Given the description of an element on the screen output the (x, y) to click on. 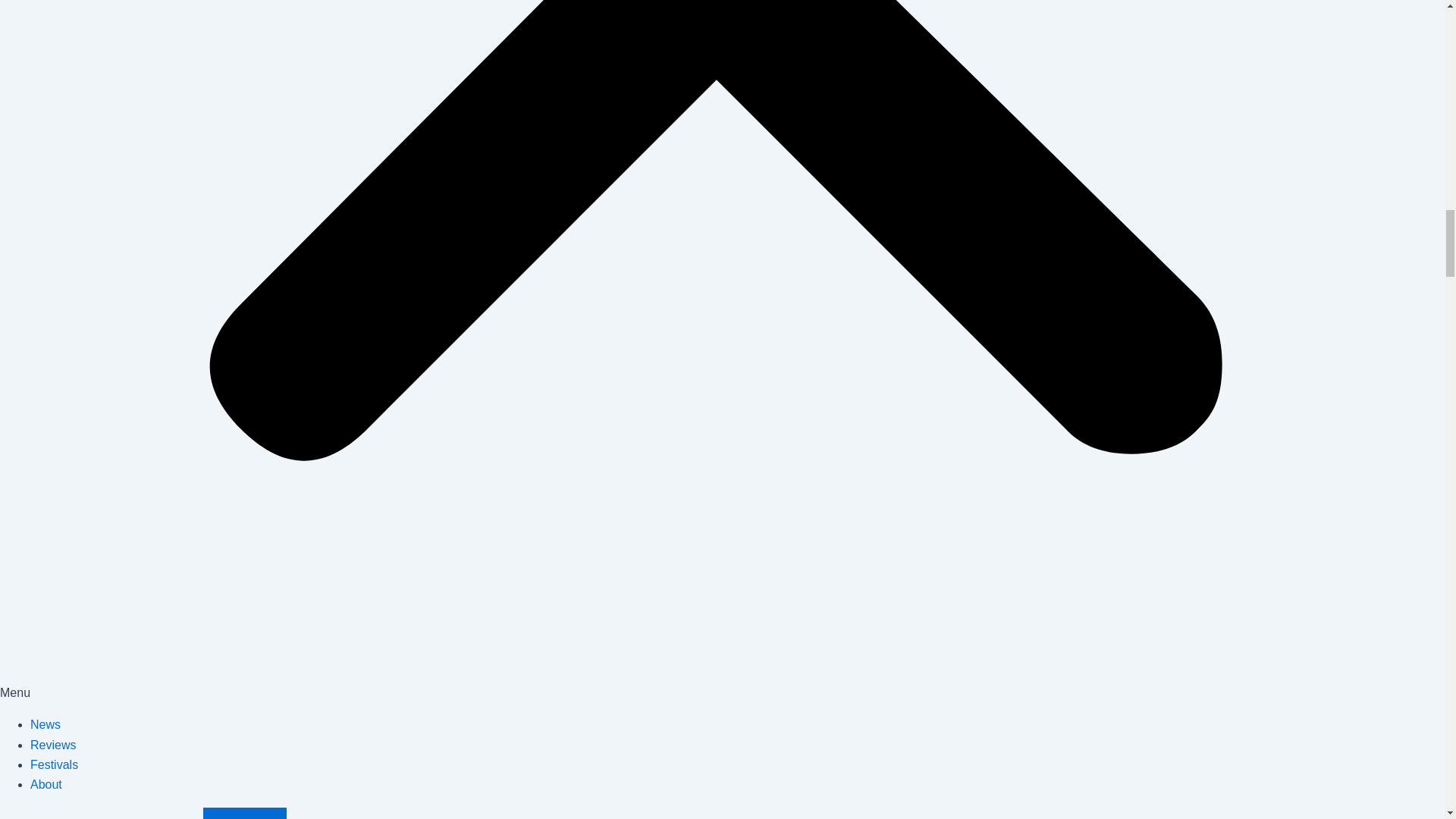
Search (244, 813)
About (46, 784)
Festivals (54, 764)
Reviews (52, 744)
News (45, 724)
